Given the description of an element on the screen output the (x, y) to click on. 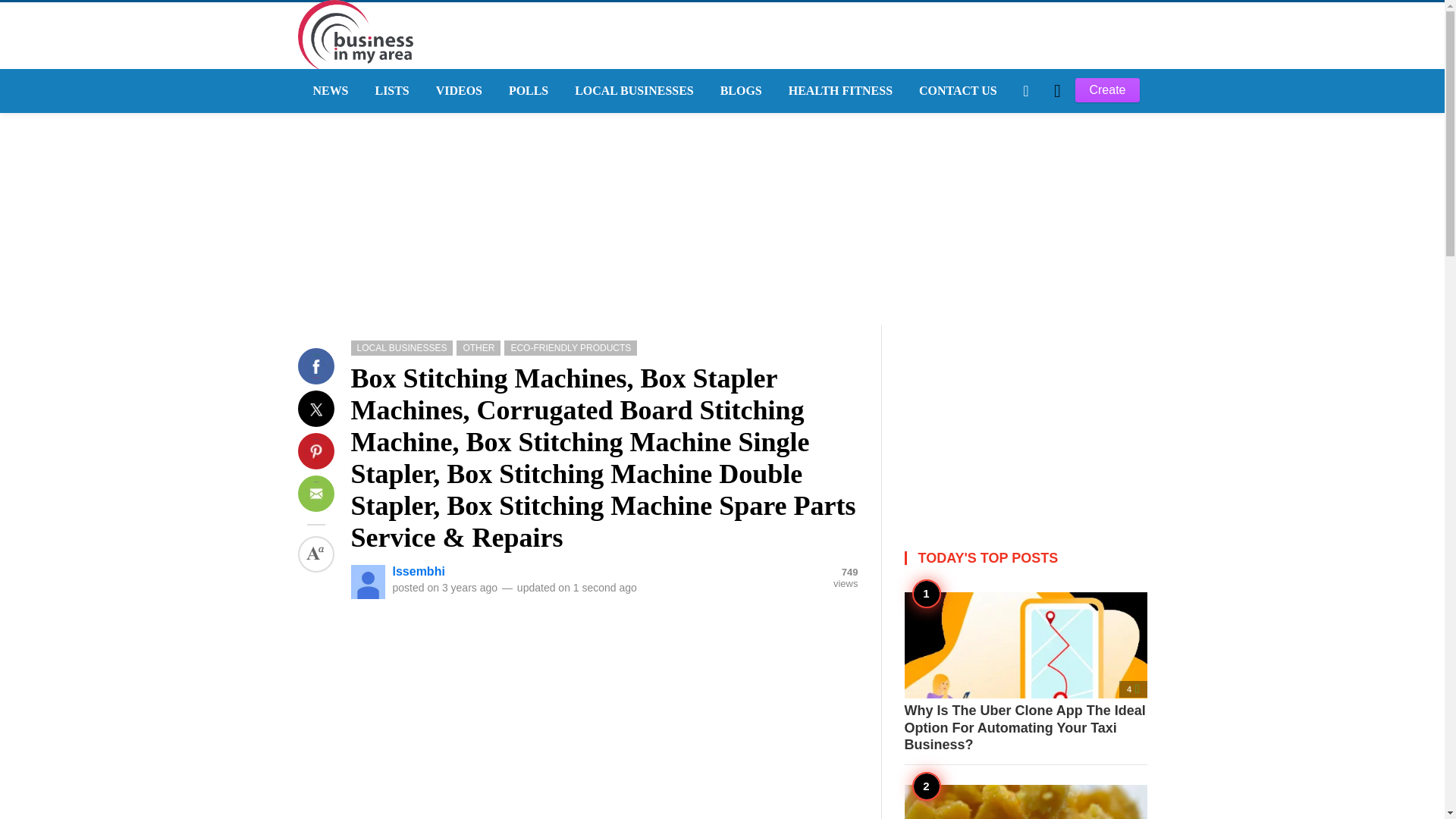
sign up (1044, 278)
LOCAL BUSINESSES (631, 90)
POLLS (526, 90)
LISTS (389, 90)
VIDEOS (456, 90)
CONTACT US (956, 90)
HEALTH FITNESS (838, 90)
BLOGS (738, 90)
Advertisement (603, 707)
Log in (1043, 278)
NEWS (328, 90)
Advertisement (1025, 420)
